Given the description of an element on the screen output the (x, y) to click on. 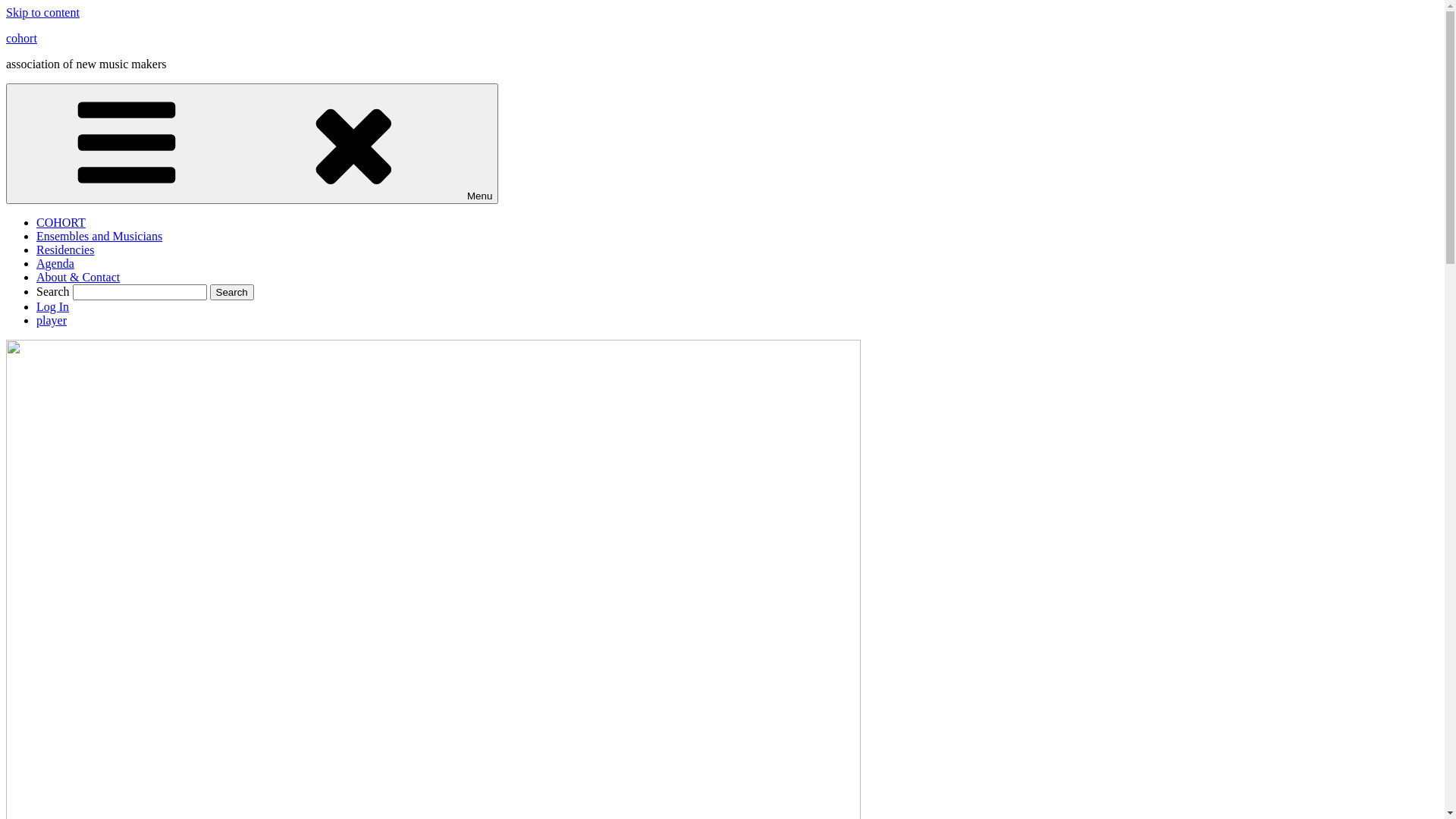
Ensembles and Musicians Element type: text (99, 235)
Agenda Element type: text (55, 263)
Residencies Element type: text (65, 249)
player Element type: text (51, 319)
Log In Element type: text (52, 306)
Skip to content Element type: text (42, 12)
Menu Element type: text (252, 143)
cohort Element type: text (21, 37)
Search Element type: text (232, 292)
COHORT Element type: text (60, 222)
About & Contact Element type: text (77, 276)
